Given the description of an element on the screen output the (x, y) to click on. 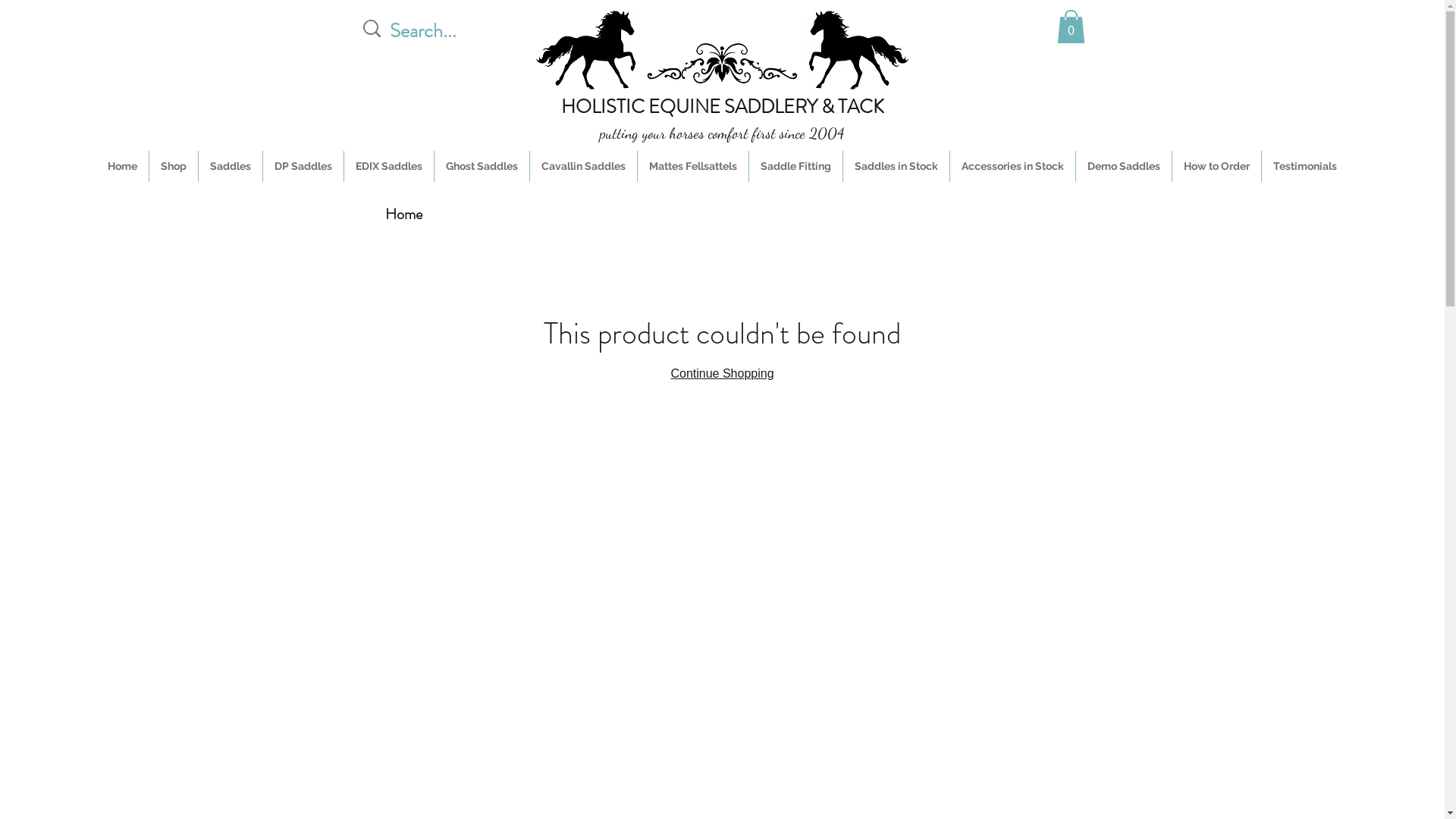
How to Order Element type: text (1216, 166)
Ghost Saddles Element type: text (481, 166)
Accessories in Stock Element type: text (1012, 166)
Cavallin Saddles Element type: text (583, 166)
Mattes Fellsattels Element type: text (692, 166)
Testimonials Element type: text (1304, 166)
0 Element type: text (1071, 26)
Saddles Element type: text (230, 166)
Shop Element type: text (173, 166)
EDIX Saddles Element type: text (388, 166)
Saddles in Stock Element type: text (896, 166)
Home Element type: text (403, 214)
Continue Shopping Element type: text (721, 373)
Demo Saddles Element type: text (1123, 166)
DP Saddles Element type: text (303, 166)
Home Element type: text (122, 166)
HOLISTIC EQUINE SADDLERY & TACK Element type: text (722, 106)
Saddle Fitting Element type: text (795, 166)
